Given the description of an element on the screen output the (x, y) to click on. 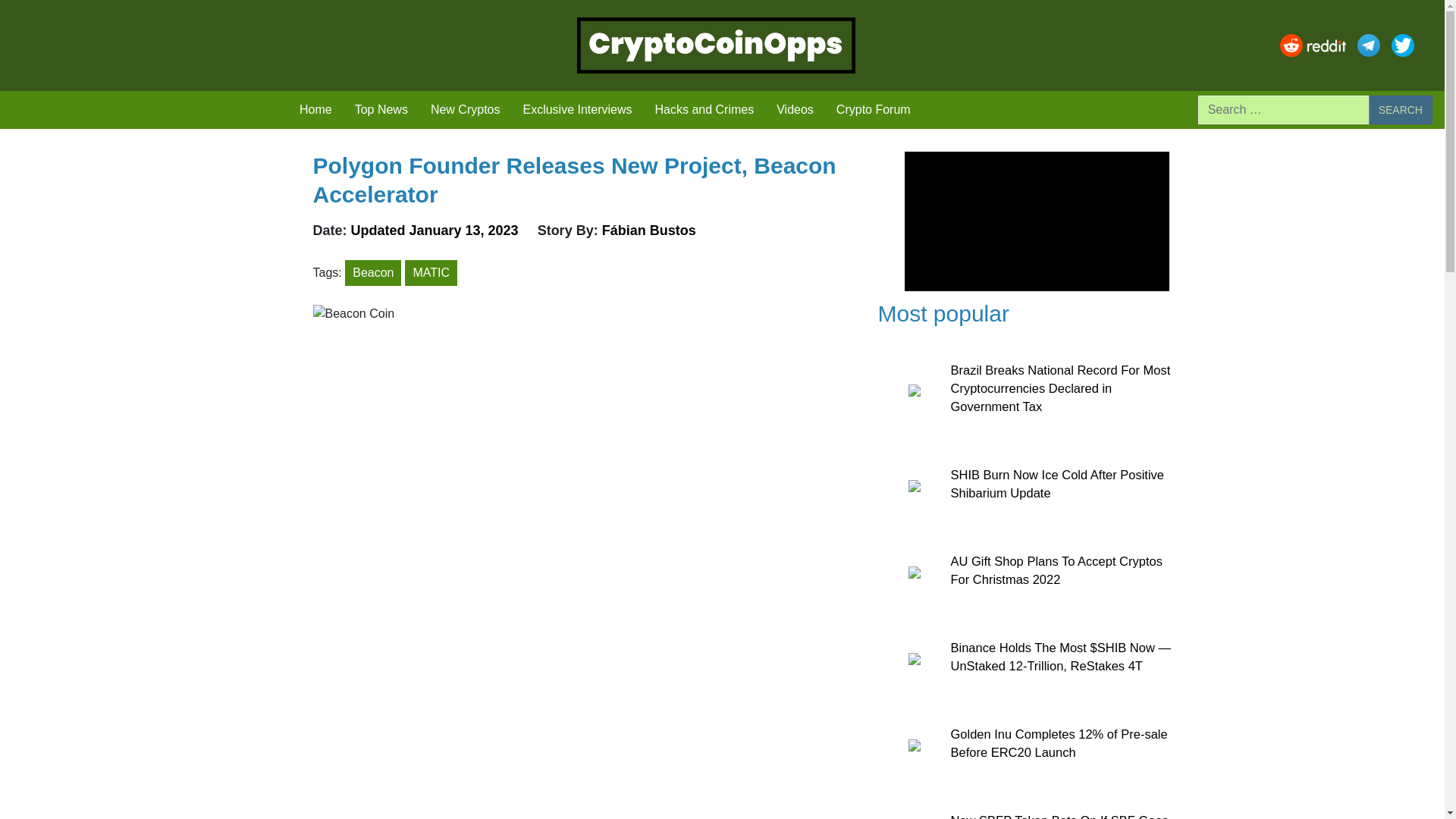
Top News (381, 110)
AU Gift Shop Plans To Accept Cryptos For Christmas 2022 (1055, 570)
Updated January 13, 2023 (436, 230)
Search (1400, 109)
SHIB Burn Now Ice Cold After Positive Shibarium Update (1057, 483)
Crypto Forum (873, 110)
New Cryptos (465, 110)
Videos (795, 110)
New SBFP Token Bets On If SBF Goes To Prison (1059, 816)
